Given the description of an element on the screen output the (x, y) to click on. 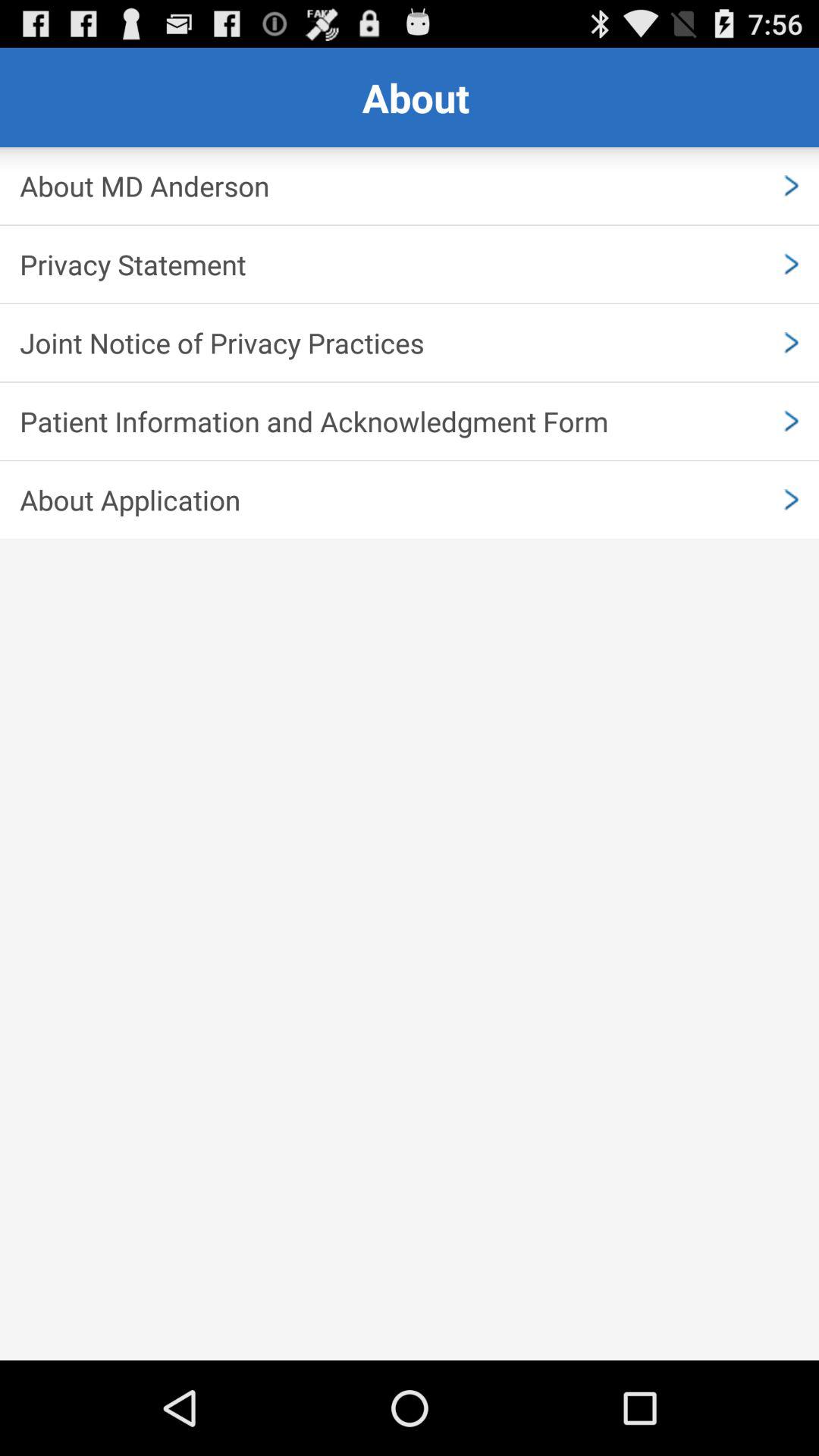
scroll to about md anderson icon (409, 185)
